Given the description of an element on the screen output the (x, y) to click on. 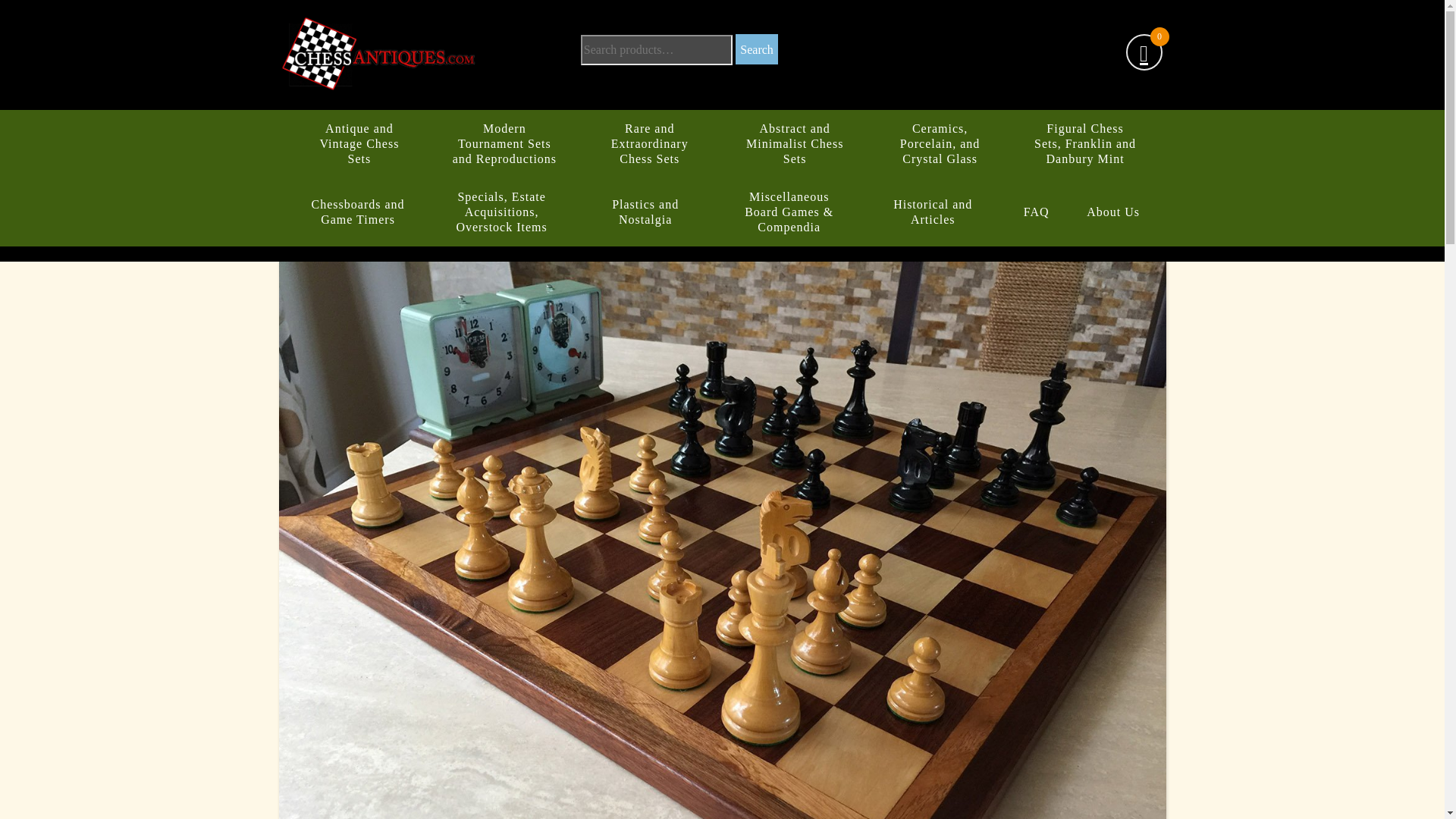
Rare and Extraordinary Chess Sets (649, 144)
0 (1143, 54)
Ceramics, Porcelain, and Crystal Glass (940, 144)
Plastics and Nostalgia (645, 212)
Modern Tournament Sets and Reproductions (504, 144)
Antique and Vintage Chess Sets (359, 144)
Historical and Articles (932, 212)
Search (756, 49)
Abstract and Minimalist Chess Sets (794, 144)
Figural Chess Sets, Franklin and Danbury Mint (1085, 144)
